Given the description of an element on the screen output the (x, y) to click on. 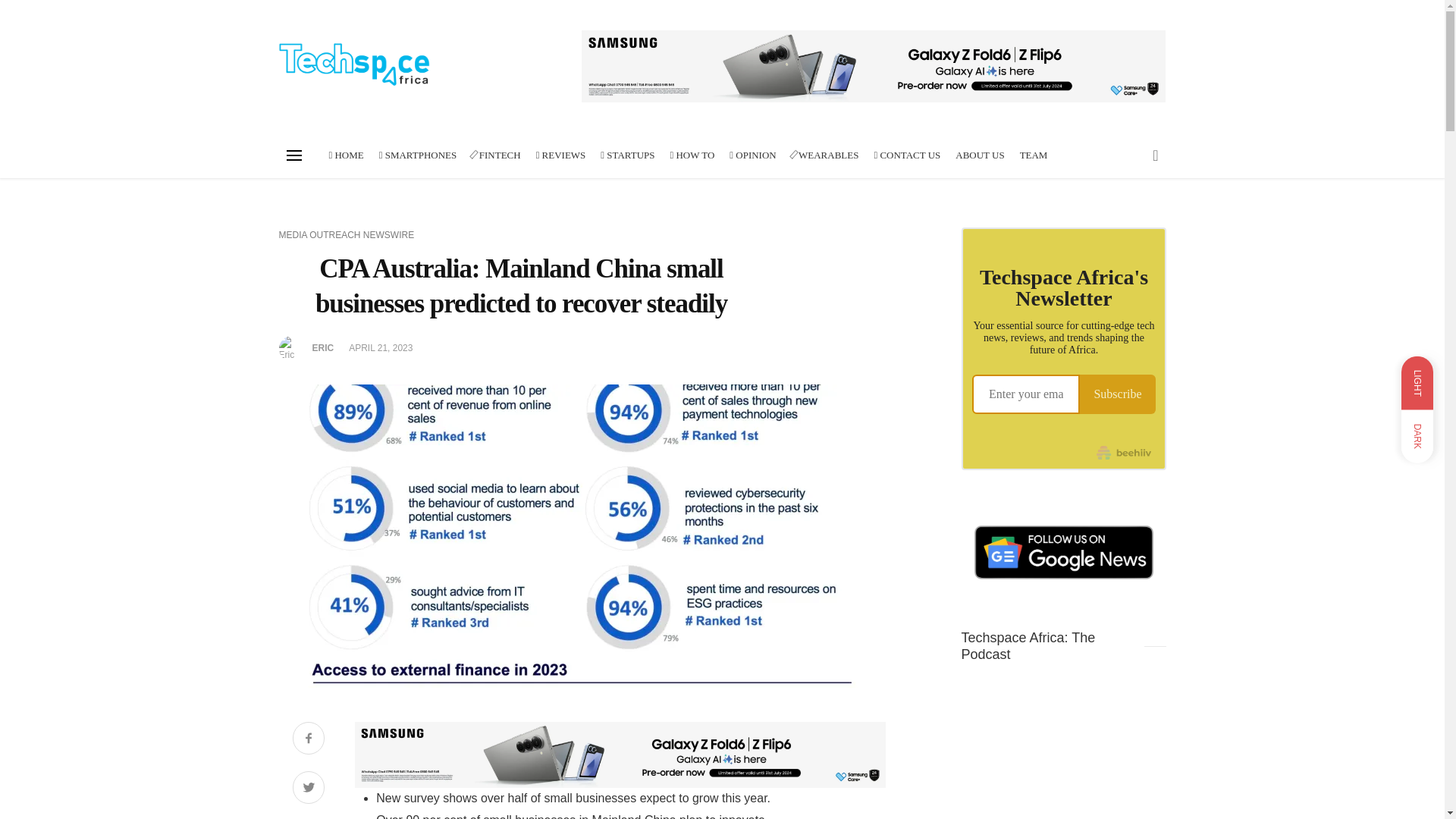
HOME (346, 155)
SMARTPHONES (417, 155)
STARTUPS (627, 155)
FINTECH (495, 155)
REVIEWS (561, 155)
